Given the description of an element on the screen output the (x, y) to click on. 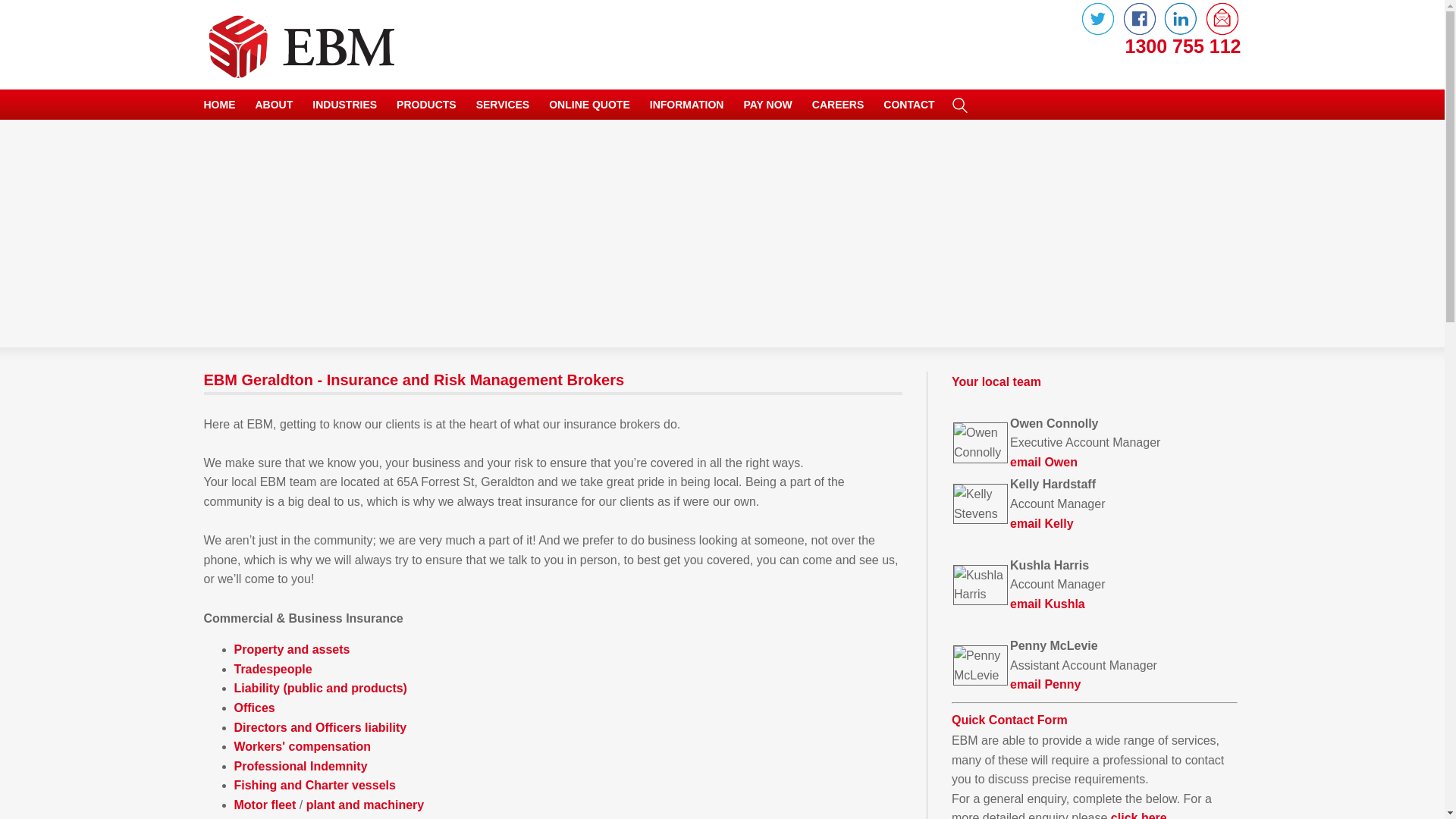
email Penny Element type: text (1045, 683)
HOME Element type: text (219, 104)
PAY NOW Element type: text (767, 104)
Professional Indemnity Element type: text (300, 765)
Twitter Element type: hover (1098, 18)
email Kushla Element type: text (1047, 603)
ONLINE QUOTE Element type: text (589, 104)
Property and assets Element type: text (291, 649)
plant and machinery Element type: text (365, 804)
CAREERS Element type: text (837, 104)
1300 755 112 Element type: text (1129, 46)
INDUSTRIES Element type: text (344, 104)
Workers' compensation Element type: text (301, 746)
INFORMATION Element type: text (686, 104)
Offices Element type: text (253, 707)
Liability (public and products) Element type: text (319, 687)
email Kelly Element type: text (1041, 523)
Tradespeople Element type: text (272, 668)
Fishing and Charter vessels Element type: text (314, 784)
Motor fleet Element type: text (264, 804)
PRODUCTS Element type: text (426, 104)
CONTACT Element type: text (908, 104)
Subscribe  Element type: hover (1221, 33)
Directors and Officers liability Element type: text (319, 726)
email Owen Element type: text (1043, 461)
ABOUT Element type: text (273, 104)
Linkedin Element type: hover (1180, 33)
Facebook Element type: hover (1139, 33)
SERVICES Element type: text (503, 104)
Twitter Element type: hover (1098, 33)
